Given the description of an element on the screen output the (x, y) to click on. 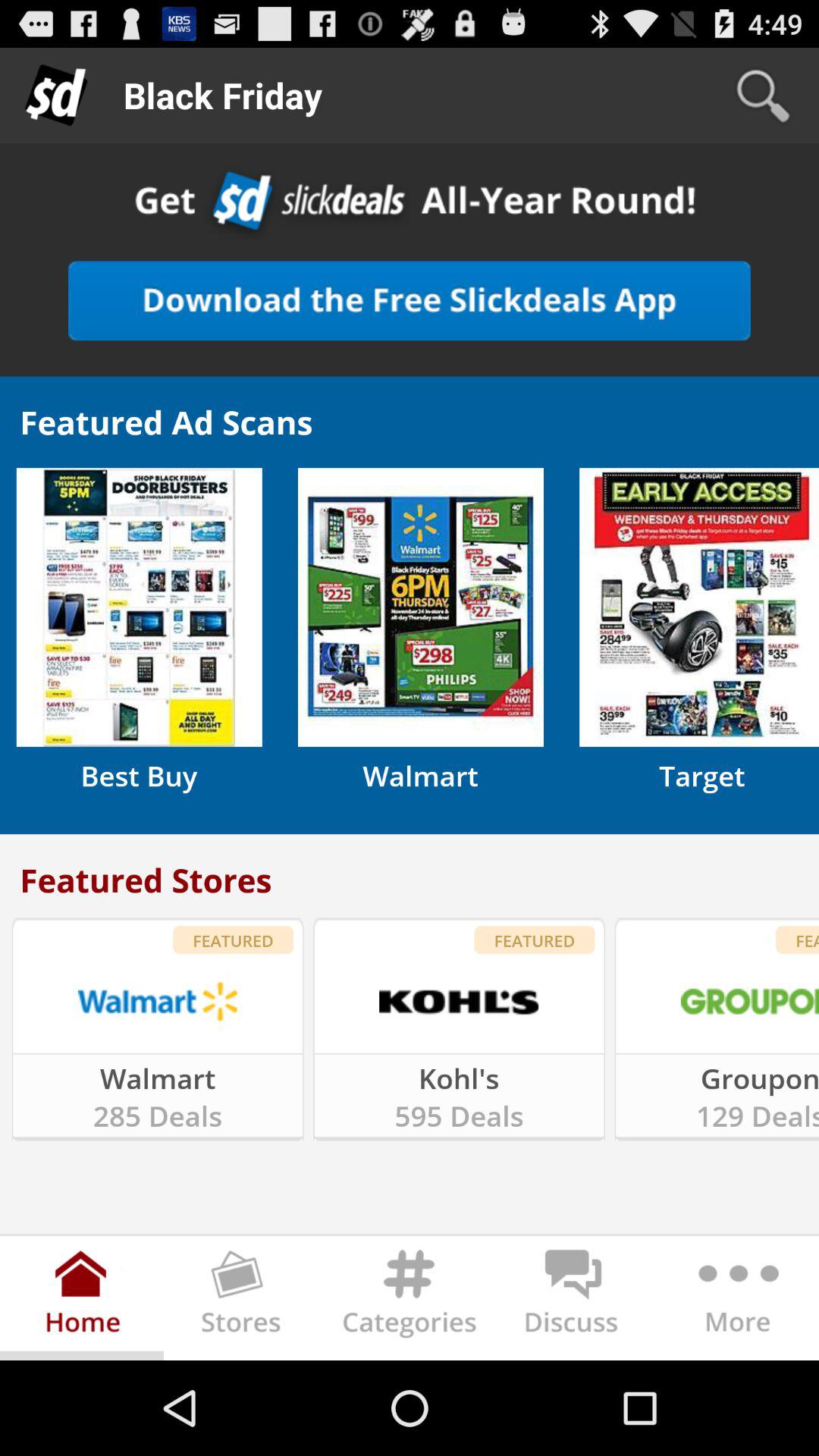
download link (409, 300)
